Given the description of an element on the screen output the (x, y) to click on. 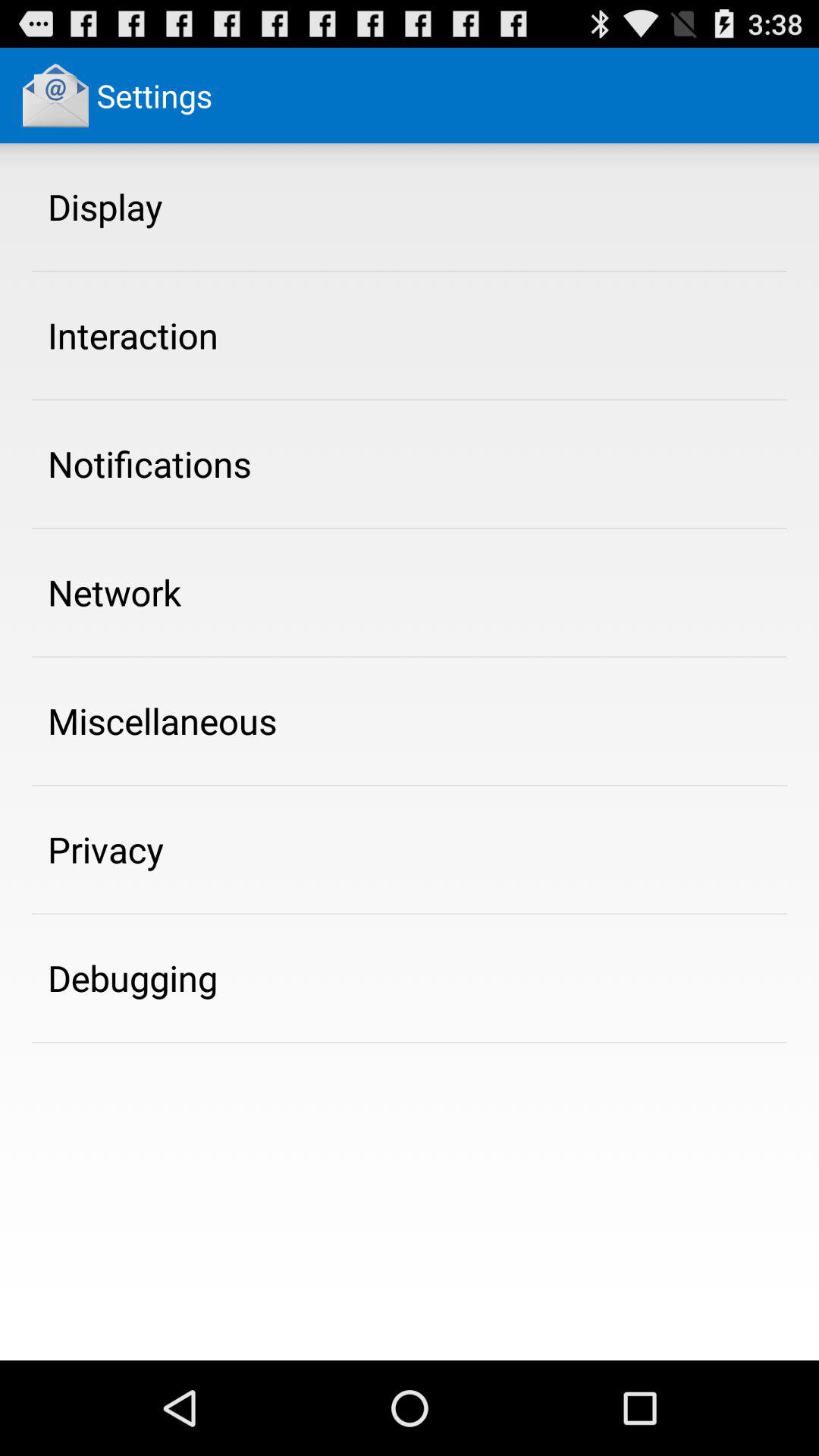
click the debugging app (132, 977)
